Given the description of an element on the screen output the (x, y) to click on. 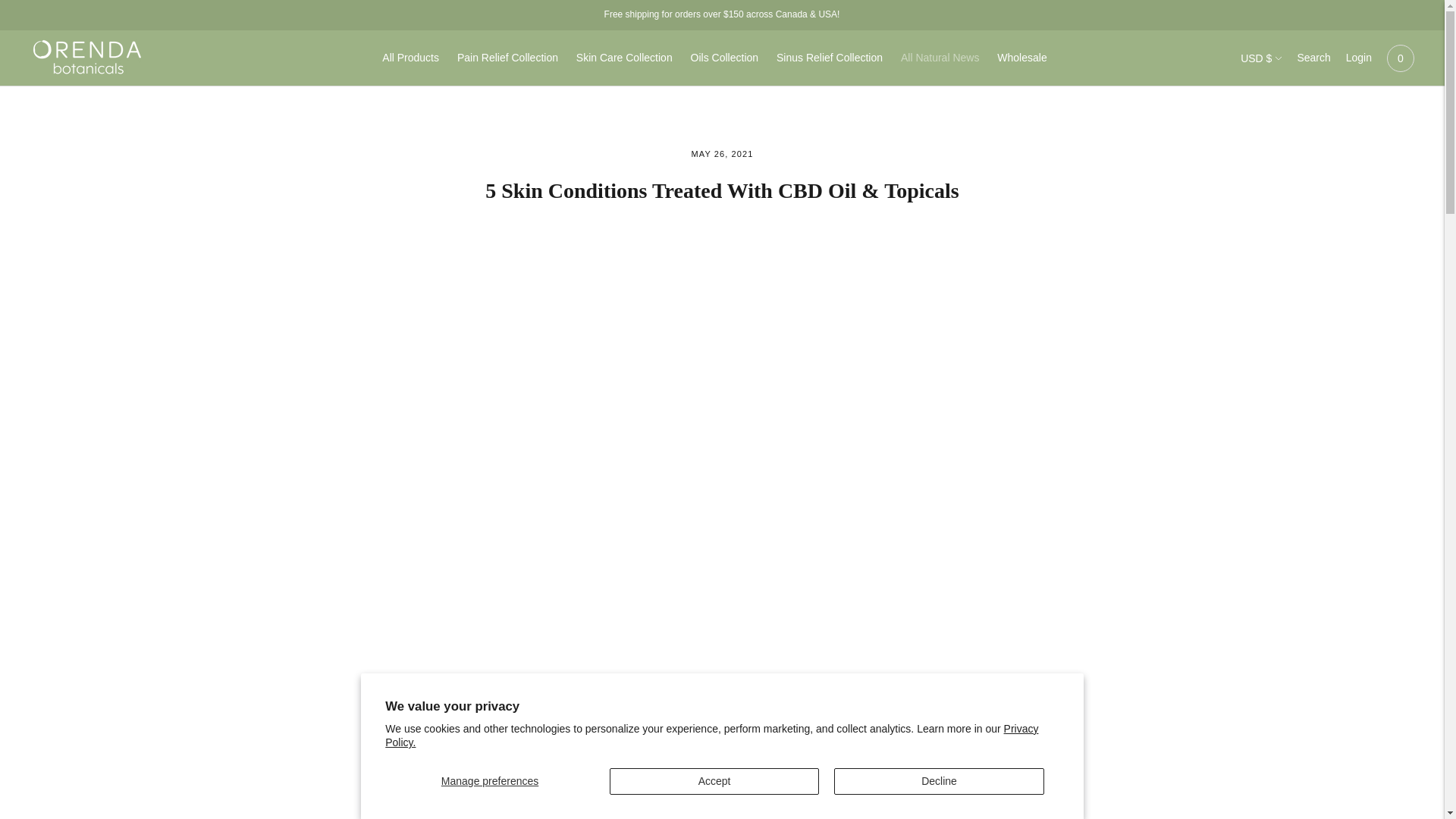
Manage preferences (489, 781)
Sinus Relief Collection (829, 57)
Pain Relief Collection (507, 57)
Accept (714, 781)
All Natural News (939, 57)
All Products (410, 57)
Skin Care Collection (624, 57)
Oils Collection (724, 57)
Decline (938, 781)
Privacy Policy. (711, 735)
Wholesale (1021, 57)
